Given the description of an element on the screen output the (x, y) to click on. 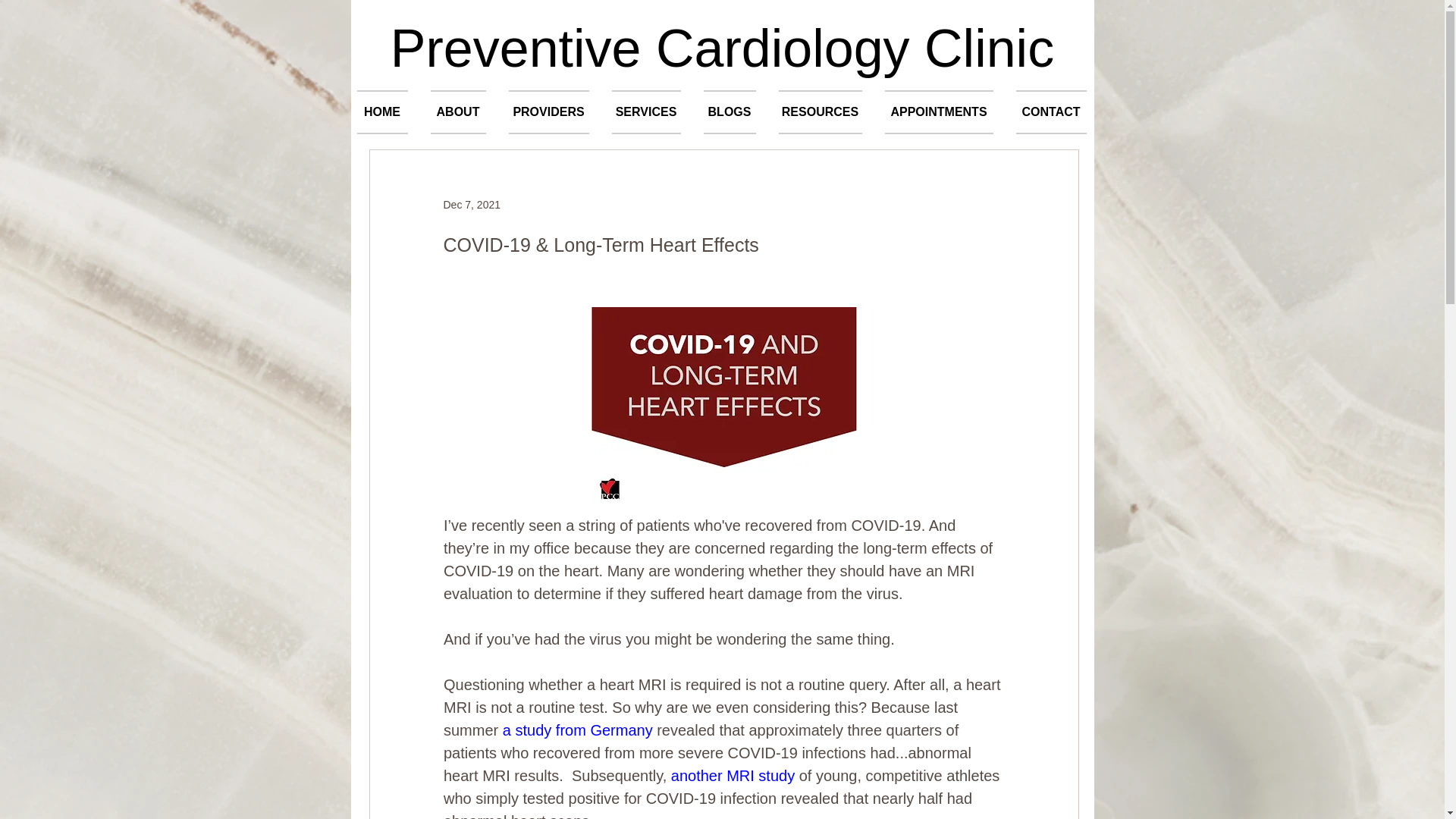
Dec 7, 2021 (471, 204)
HOME (387, 112)
APPOINTMENTS (938, 112)
BLOGS (729, 112)
